Given the description of an element on the screen output the (x, y) to click on. 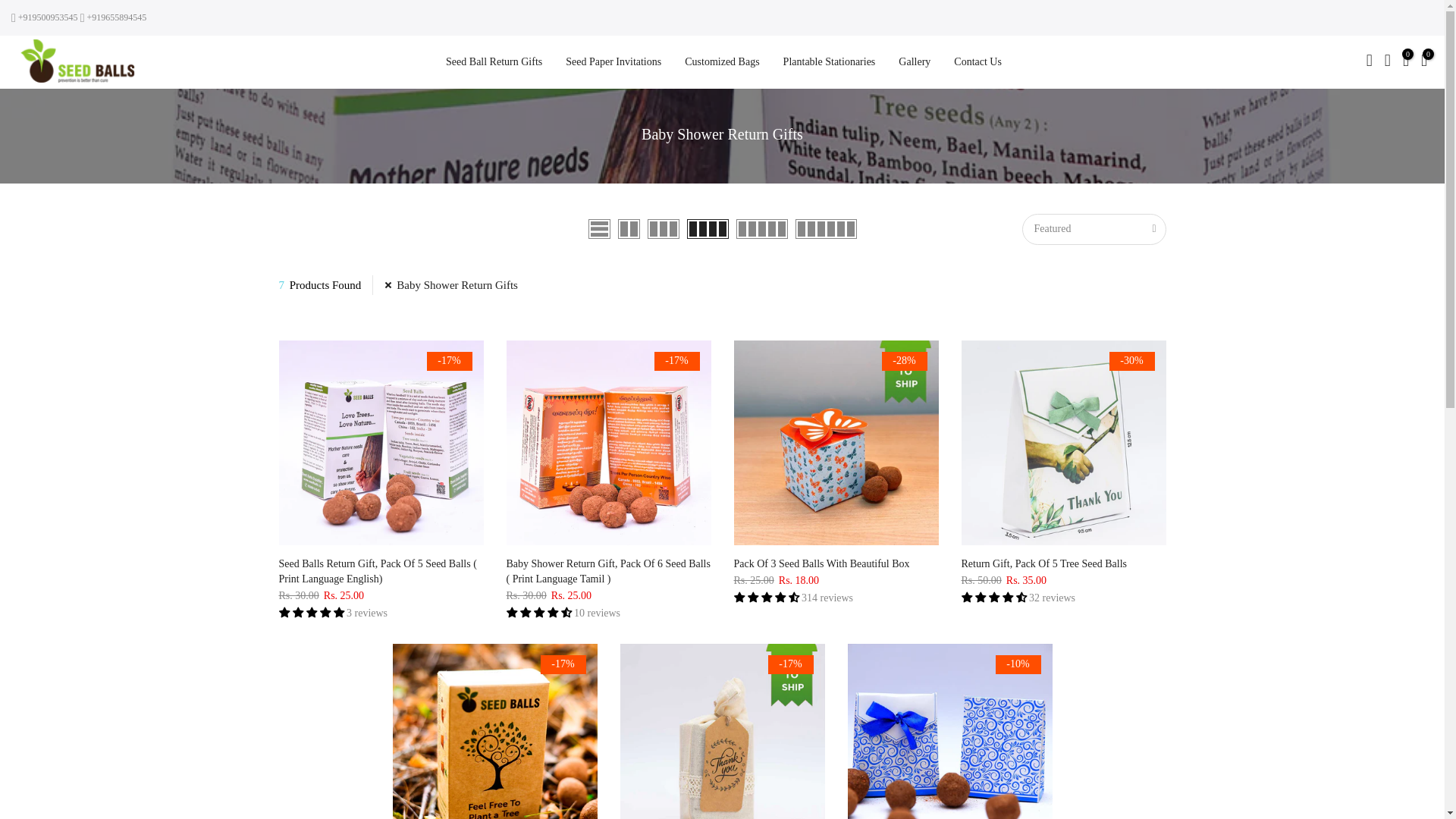
Featured (1094, 228)
Contact Us (975, 62)
Customized Bags (720, 62)
Seed Ball Return Gifts (492, 62)
Seed Paper Invitations (612, 62)
Gallery (912, 62)
Plantable Stationaries (827, 62)
0 (1405, 62)
